Given the description of an element on the screen output the (x, y) to click on. 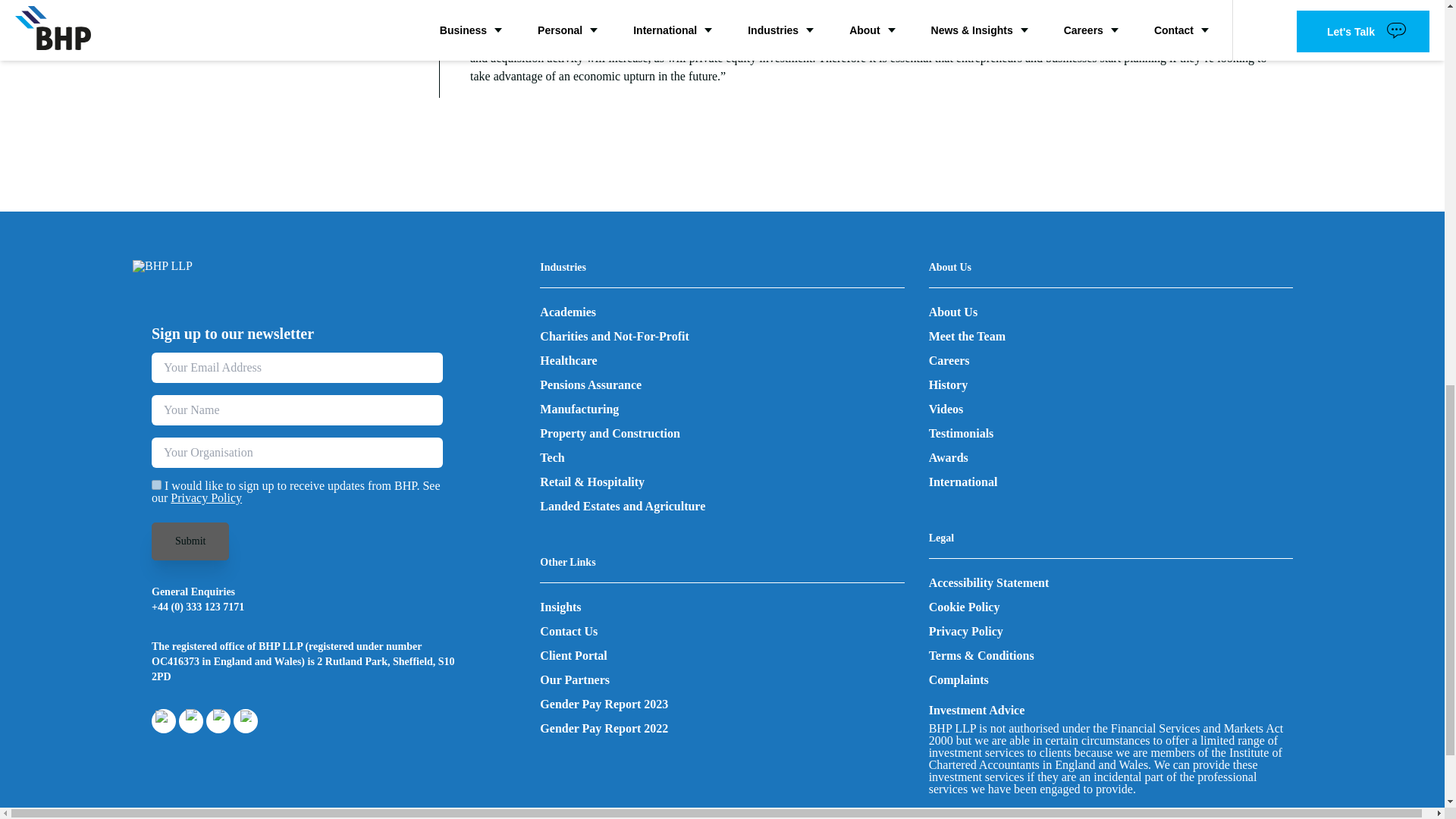
1 (156, 484)
Submit (189, 541)
